Given the description of an element on the screen output the (x, y) to click on. 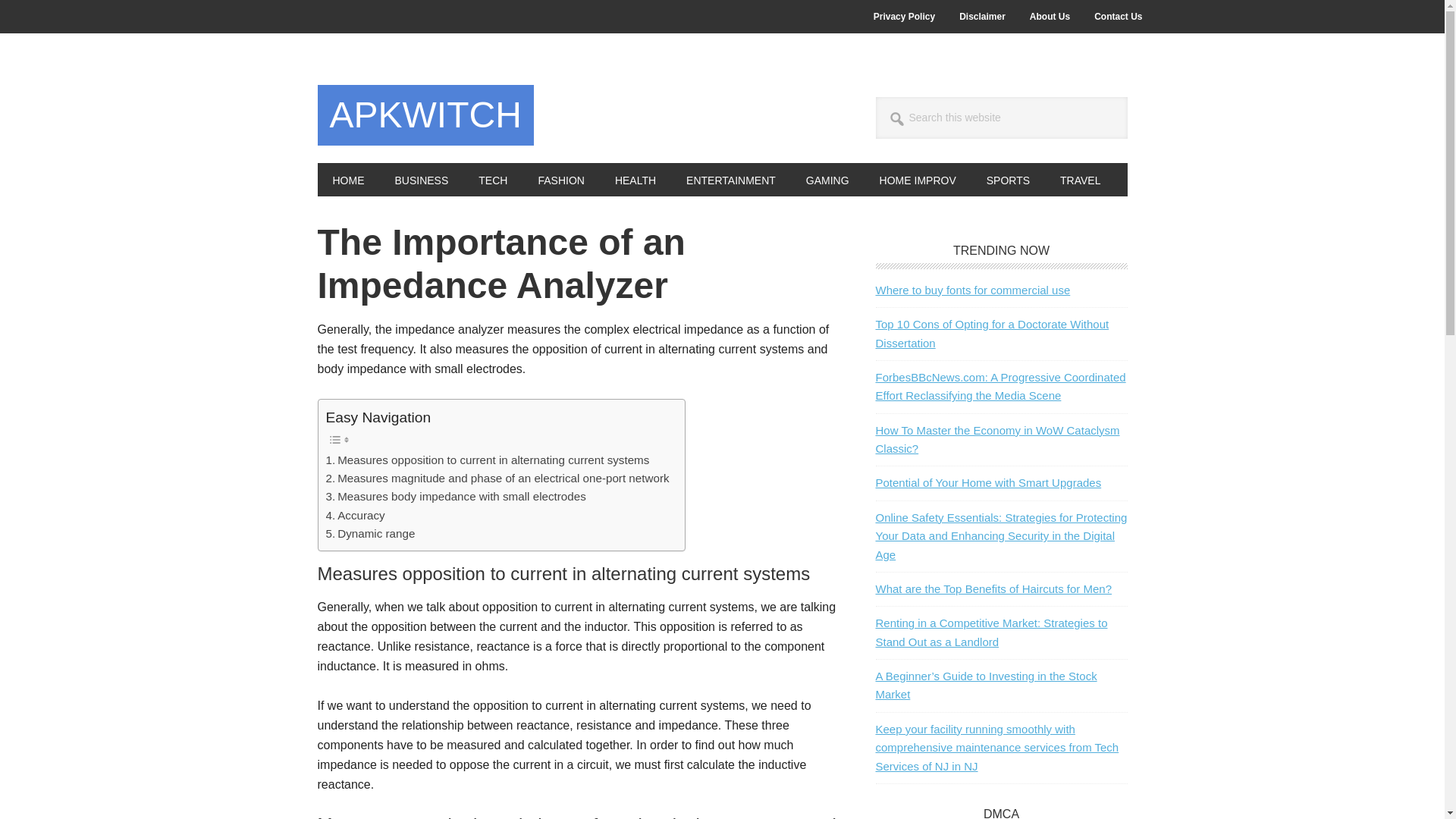
Dynamic range (370, 533)
Potential of Your Home with Smart Upgrades (987, 481)
Disclaimer (982, 16)
Top 10 Cons of Opting for a Doctorate Without Dissertation (991, 332)
HEALTH (635, 179)
Where to buy fonts for commercial use (972, 289)
Accuracy (355, 515)
How To Master the Economy in WoW Cataclysm Classic? (997, 439)
HOME IMPROV (917, 179)
About Us (1049, 16)
HOME (347, 179)
